Given the description of an element on the screen output the (x, y) to click on. 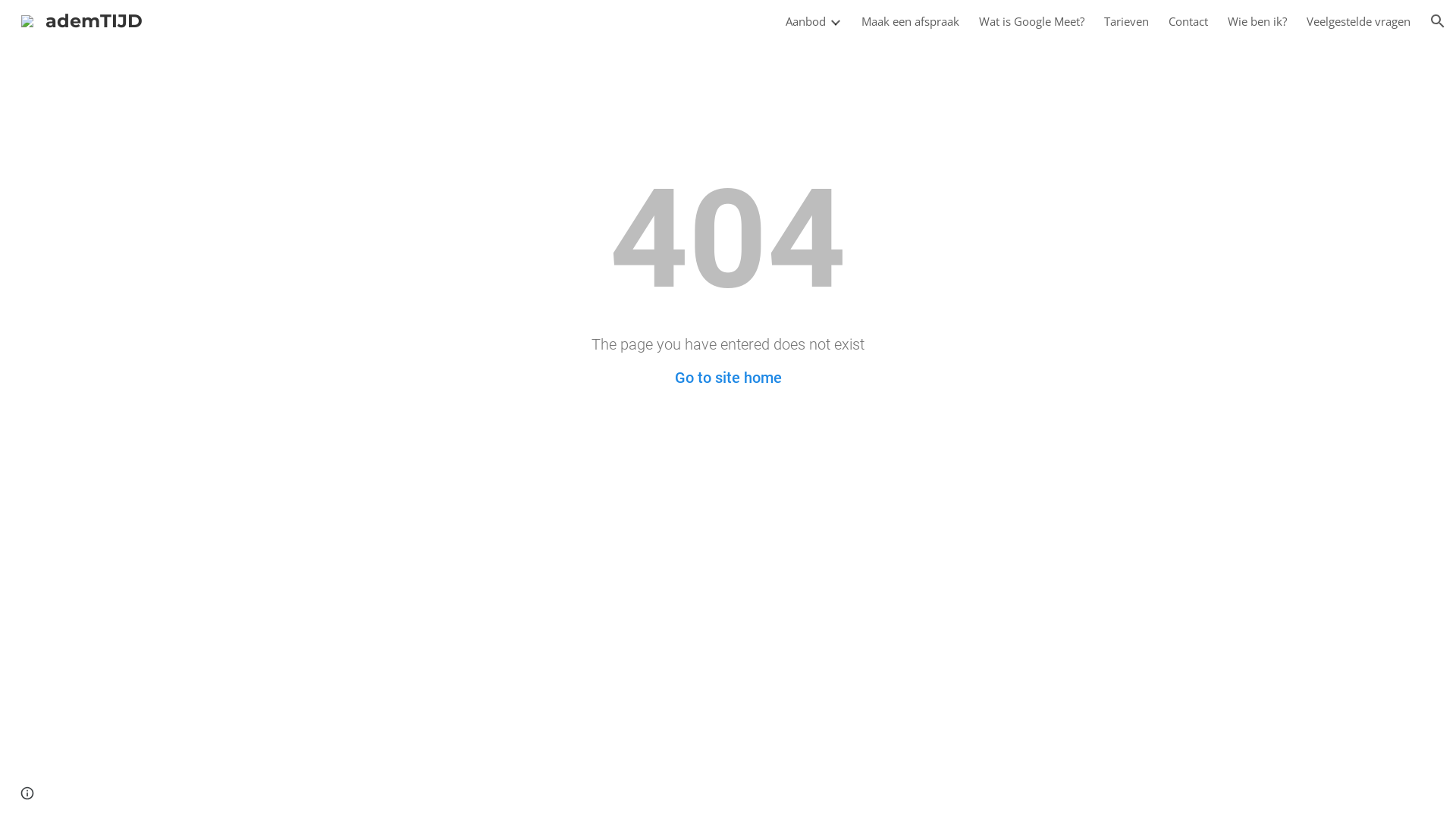
Veelgestelde vragen Element type: text (1358, 20)
Aanbod Element type: text (805, 20)
Contact Element type: text (1188, 20)
Wie ben ik? Element type: text (1256, 20)
Go to site home Element type: text (727, 377)
Maak een afspraak Element type: text (910, 20)
Expand/Collapse Element type: hover (834, 20)
ademTIJD Element type: text (81, 19)
Wat is Google Meet? Element type: text (1031, 20)
Tarieven Element type: text (1126, 20)
